Given the description of an element on the screen output the (x, y) to click on. 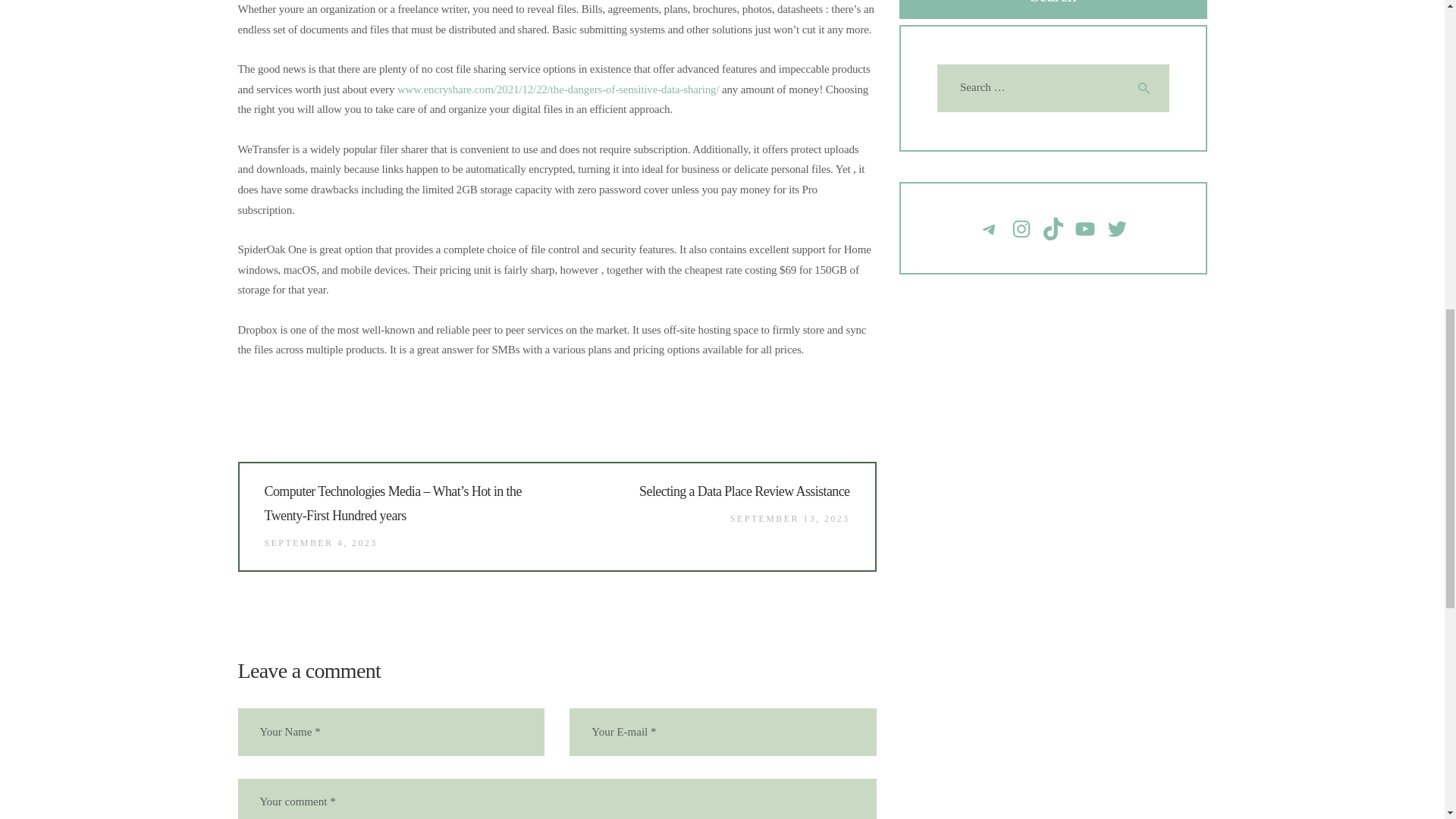
Telegram (989, 228)
Search (1146, 88)
Instagram (1021, 228)
TikTok (1053, 228)
Search (1146, 88)
YouTube (1085, 228)
Twitter (1116, 228)
Search (1146, 88)
